Given the description of an element on the screen output the (x, y) to click on. 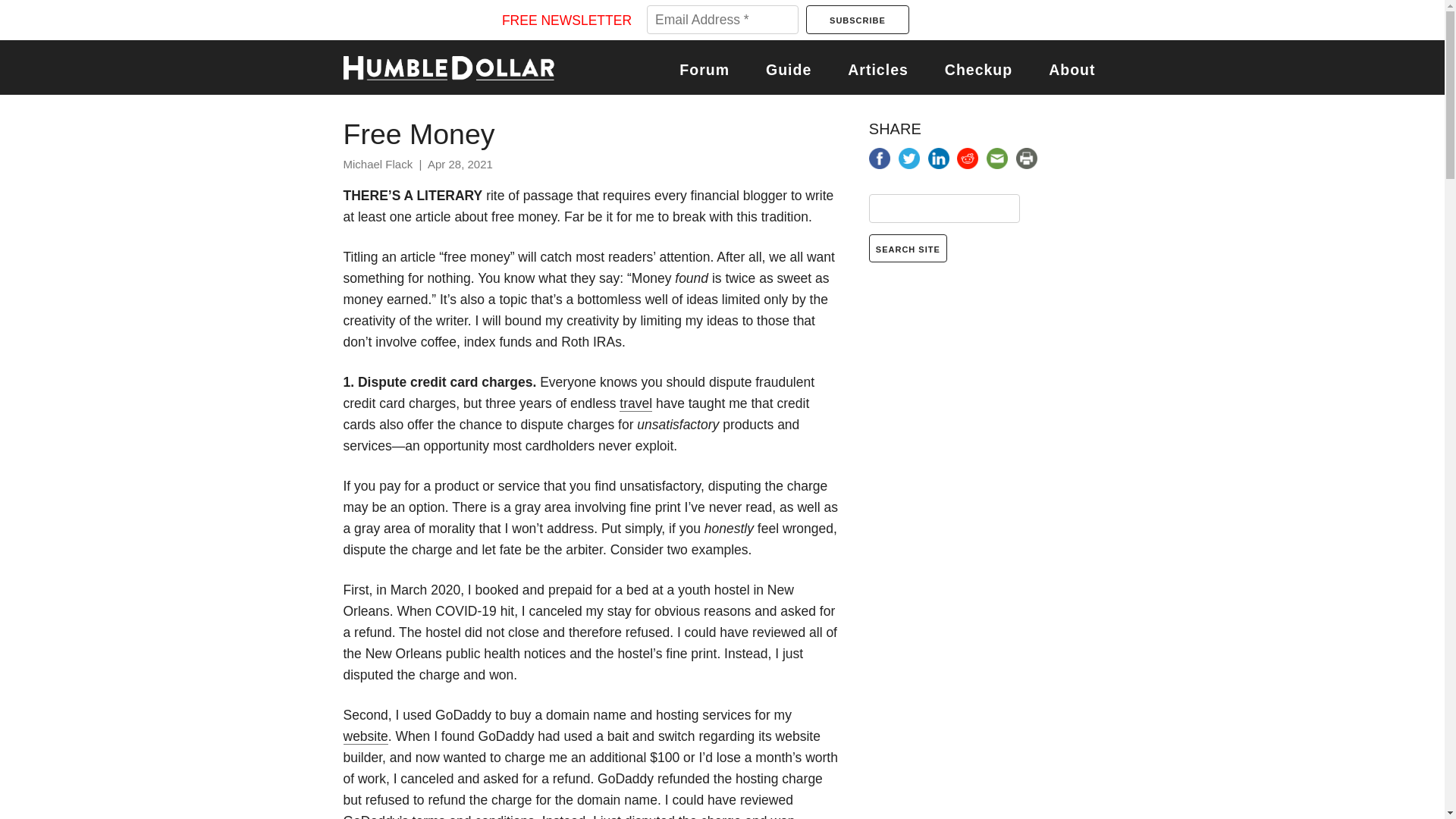
website (364, 736)
Email Address (721, 19)
travel (636, 403)
About (1071, 69)
Search Site (908, 248)
Guide (787, 69)
Subscribe (857, 19)
Subscribe (857, 19)
Search Site (908, 248)
Articles (877, 69)
Checkup (977, 69)
Forum (704, 69)
